Given the description of an element on the screen output the (x, y) to click on. 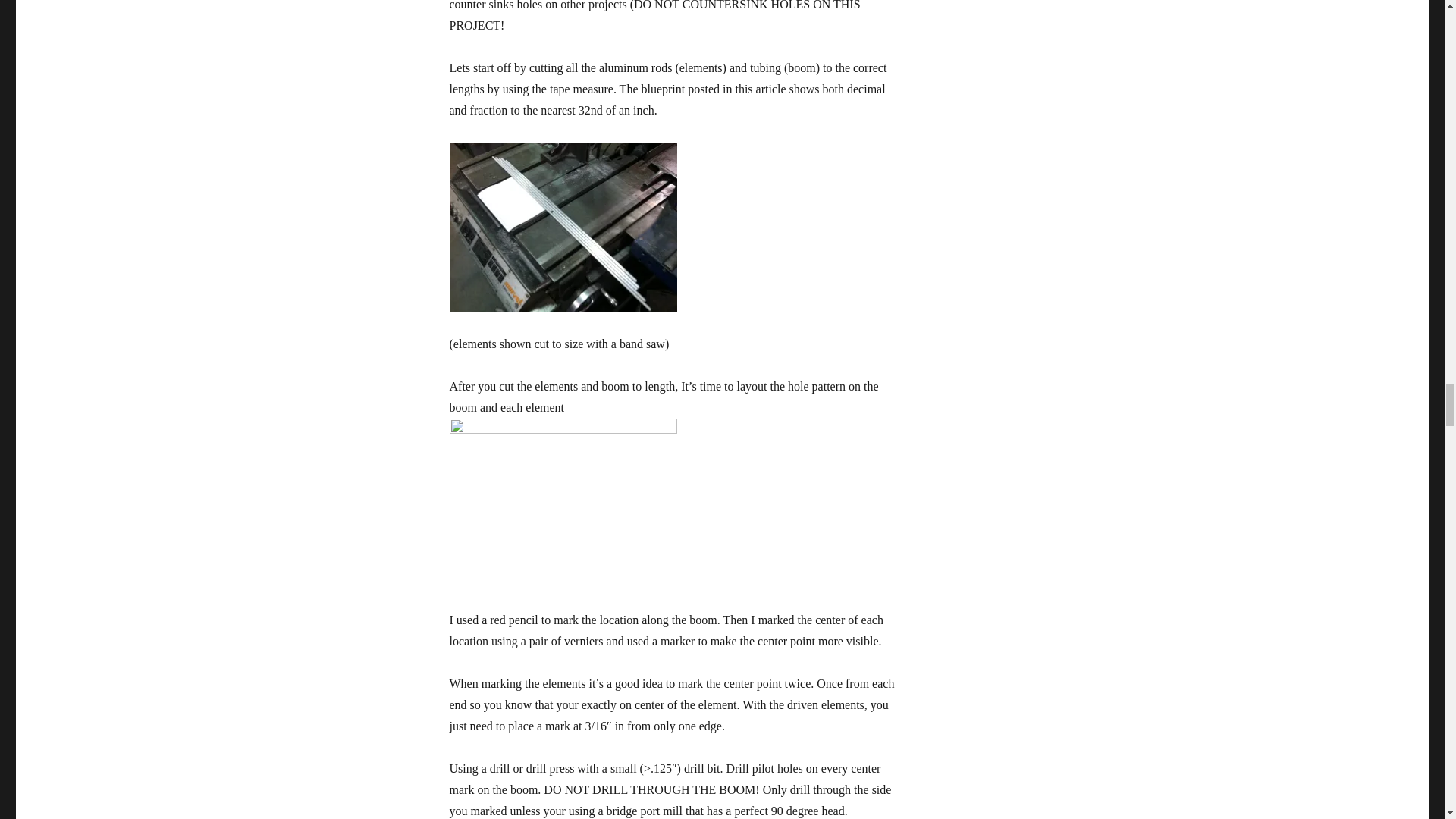
5EL VHF Yagi - Layout (562, 503)
5EL VHF Yagi - Saw cutting element (562, 227)
